Given the description of an element on the screen output the (x, y) to click on. 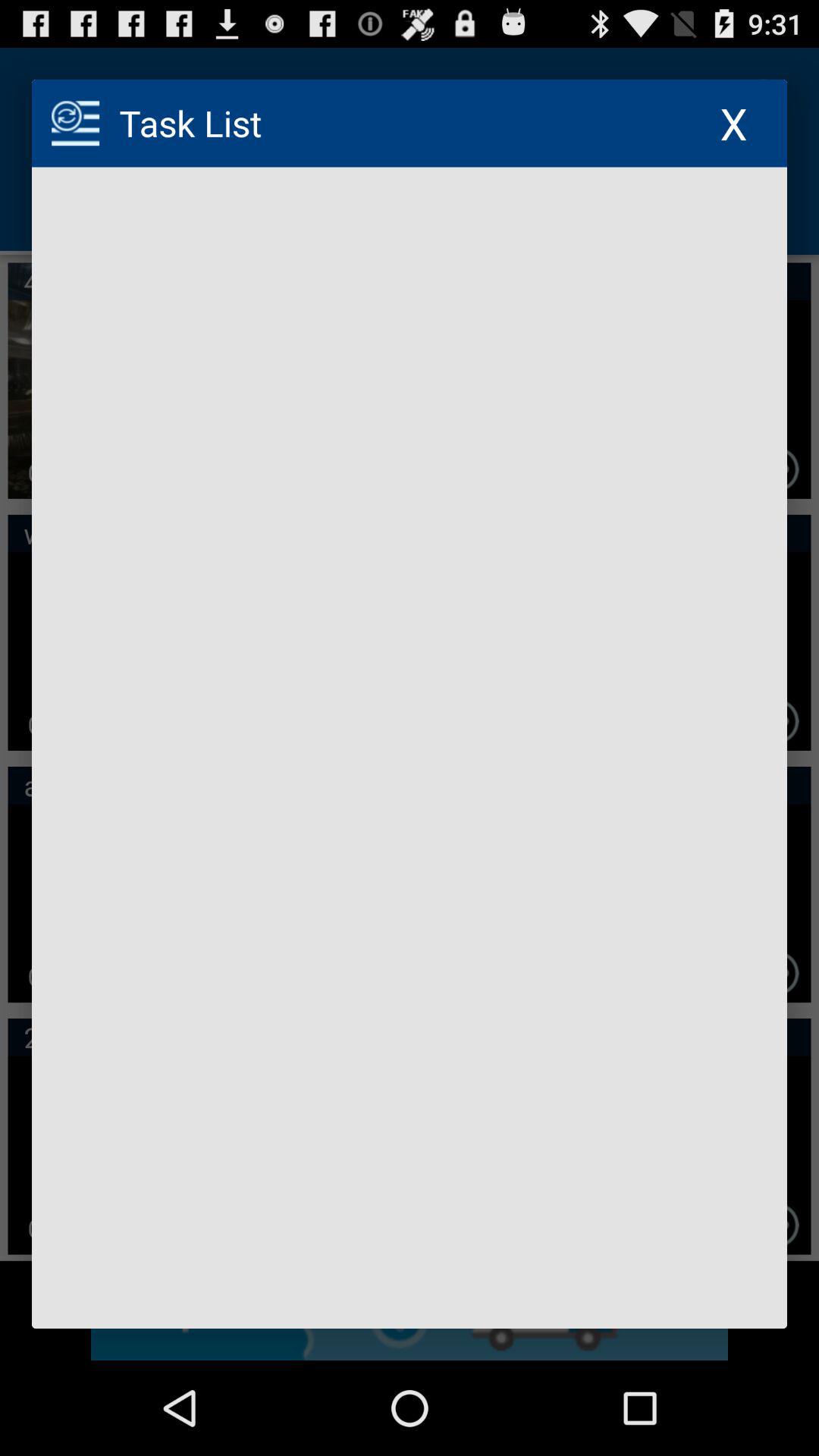
tap item to the right of task list icon (733, 123)
